Given the description of an element on the screen output the (x, y) to click on. 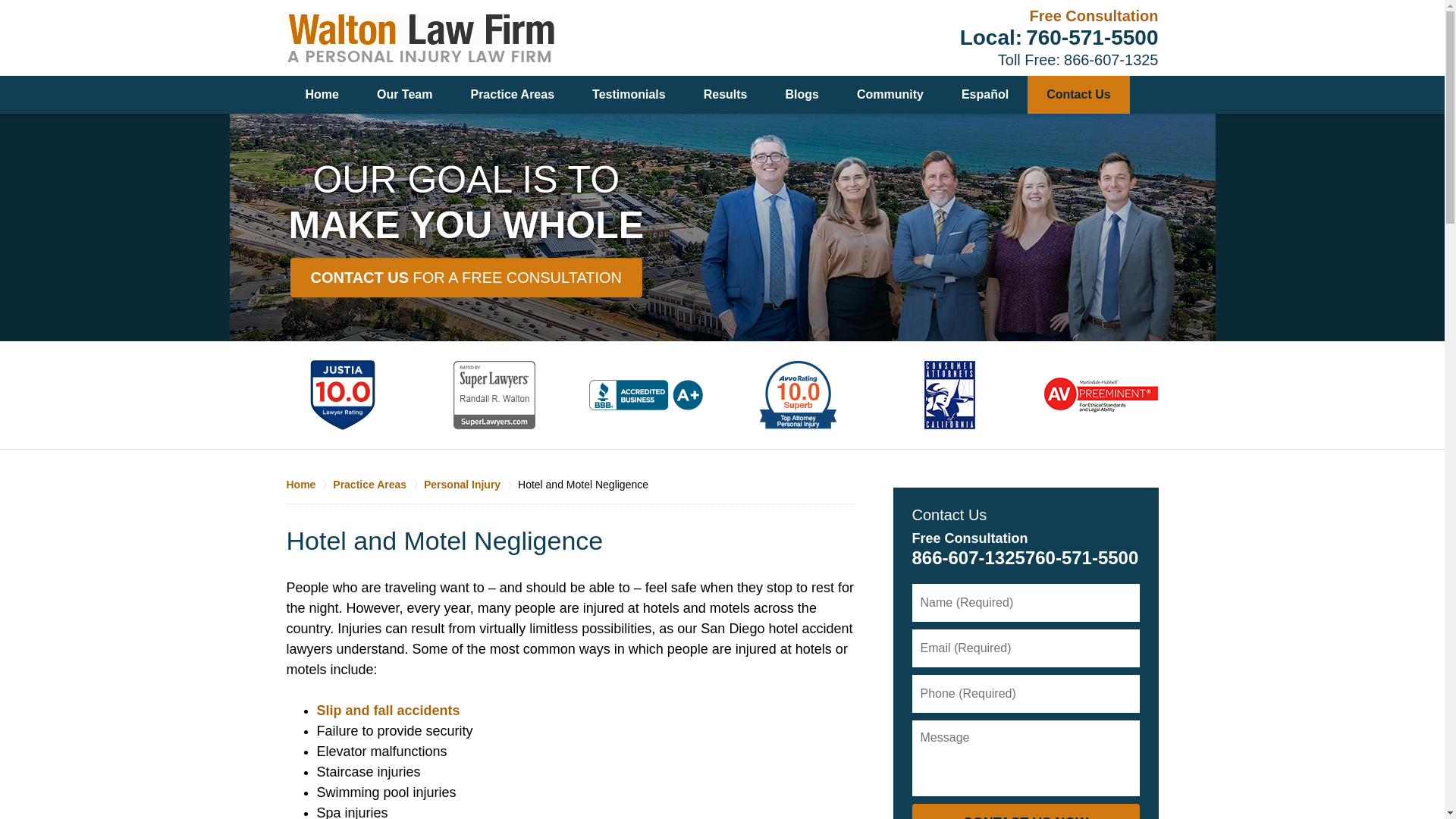
Personal Injury (470, 483)
Our Team (404, 94)
Blogs (801, 94)
Results (725, 94)
San Diego Injury Lawyers Walton Law Firm Home (420, 38)
Contact Us (949, 514)
CONTACT US NOW (1024, 811)
Testimonials (628, 94)
Practice Areas (378, 483)
Slip and fall accidents (388, 710)
Home (309, 483)
CONTACT US FOR A FREE CONSULTATION (465, 277)
Contact Us (1078, 94)
Back to Home (420, 38)
Home (322, 94)
